Given the description of an element on the screen output the (x, y) to click on. 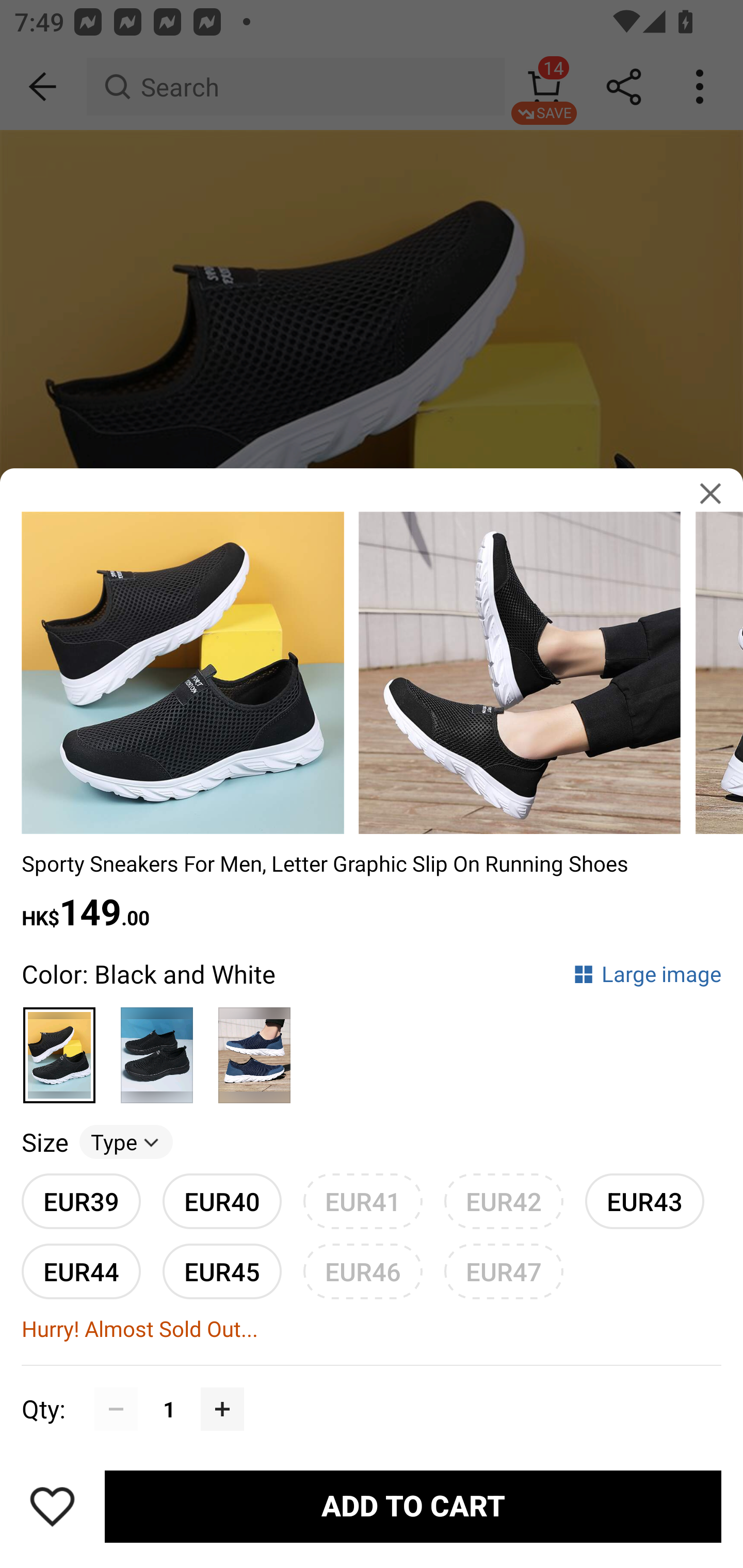
Color: Black and White (148, 973)
Large image (646, 973)
Black and White (59, 1046)
Black (156, 1046)
Blue (254, 1046)
Size (44, 1141)
Type (126, 1141)
EUR39 unselected option (81, 1200)
EUR40 unselected option (221, 1200)
EUR41 (362, 1200)
EUR42 (503, 1200)
EUR43 unselected option (644, 1200)
EUR44 unselected option (81, 1271)
EUR45 unselected option (221, 1271)
EUR46 (362, 1271)
EUR47 (503, 1271)
Hurry! Almost Sold Out... (371, 1328)
ADD TO CART (412, 1506)
Save (52, 1505)
